Given the description of an element on the screen output the (x, y) to click on. 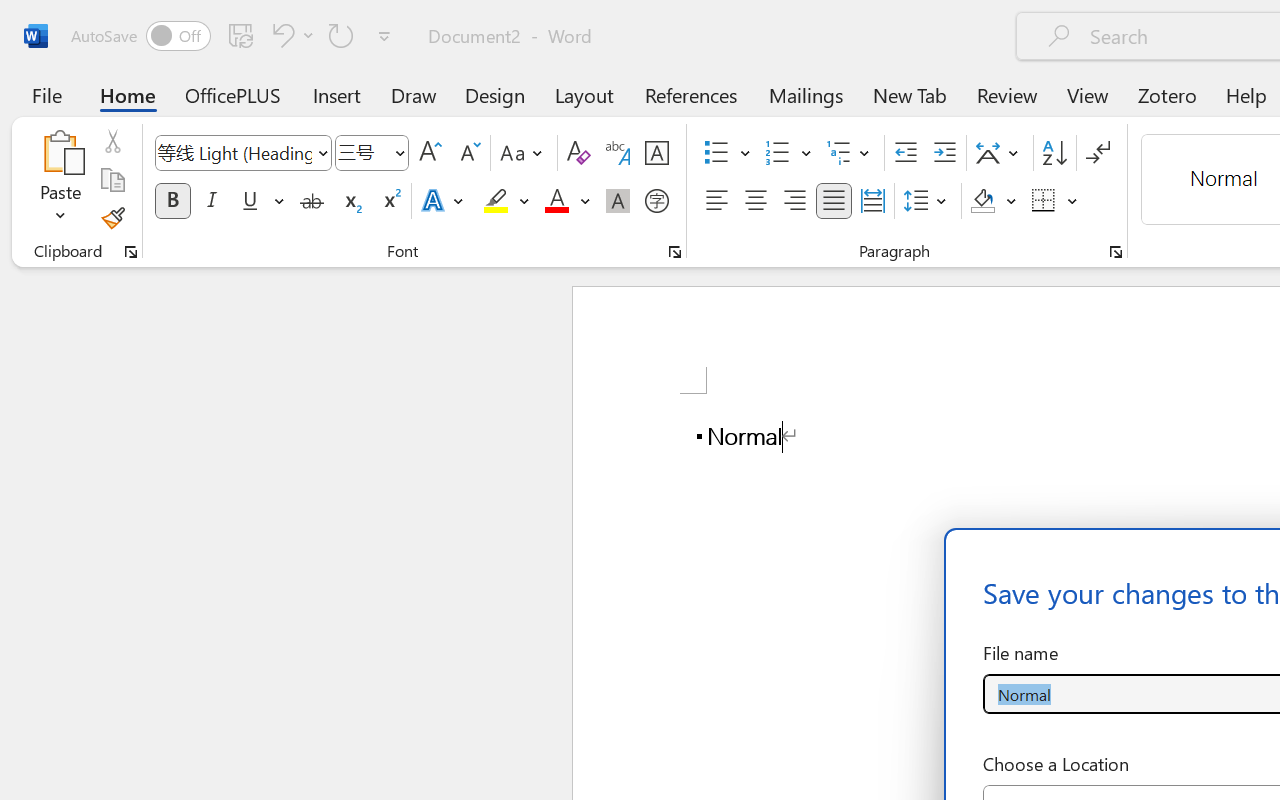
Underline (250, 201)
More Options (1073, 201)
